Given the description of an element on the screen output the (x, y) to click on. 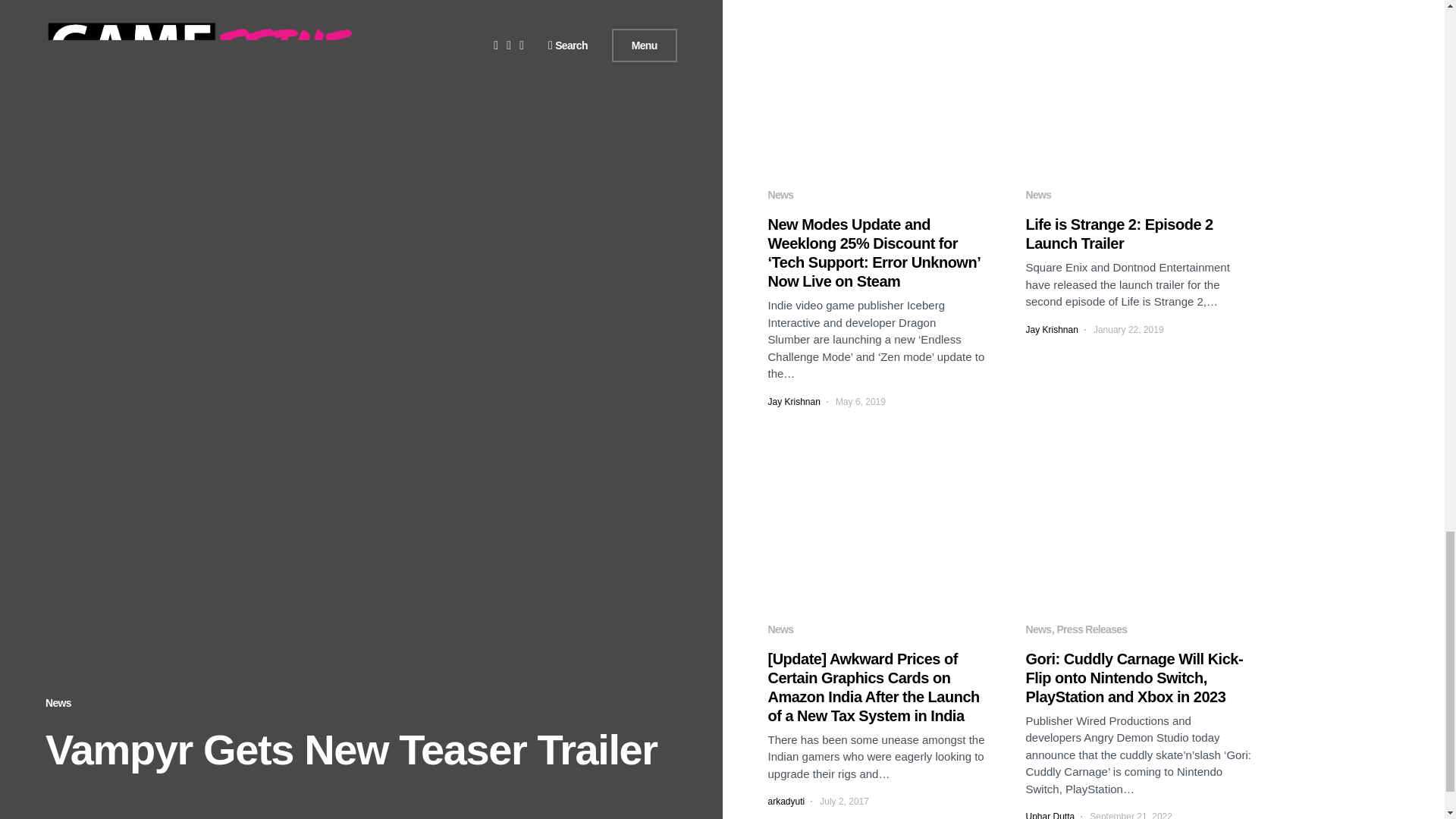
View all posts by Uphar Dutta (1049, 814)
View all posts by Jay Krishnan (1051, 329)
View all posts by arkadyuti (786, 801)
View all posts by Jay Krishnan (793, 401)
